Given the description of an element on the screen output the (x, y) to click on. 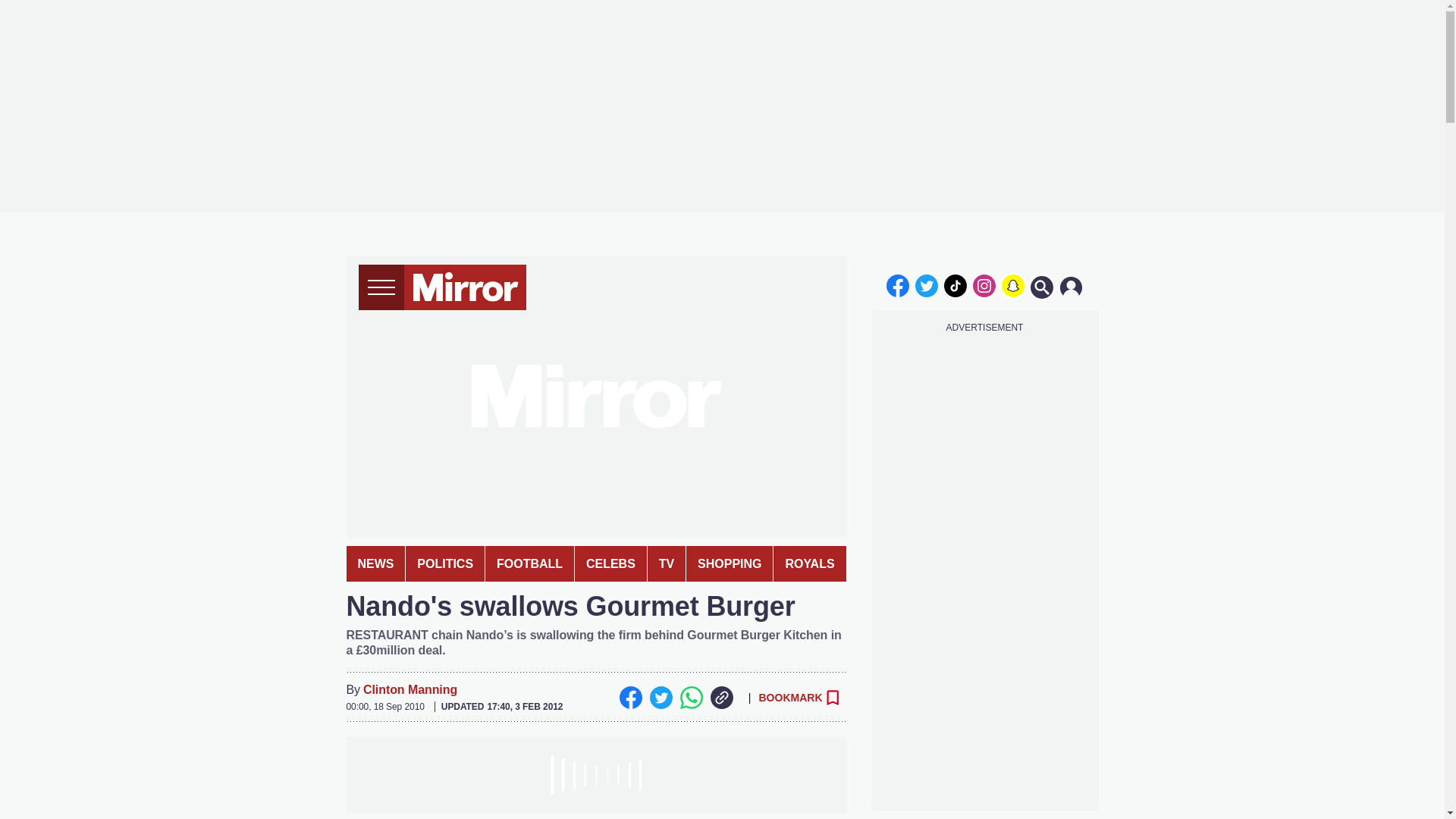
POLITICS (445, 563)
facebook (897, 285)
instagram (984, 285)
FOOTBALL (528, 563)
TV (666, 563)
Twitter (660, 697)
CELEBS (610, 563)
twitter (926, 285)
snapchat (1012, 285)
Whatsapp (690, 697)
